Given the description of an element on the screen output the (x, y) to click on. 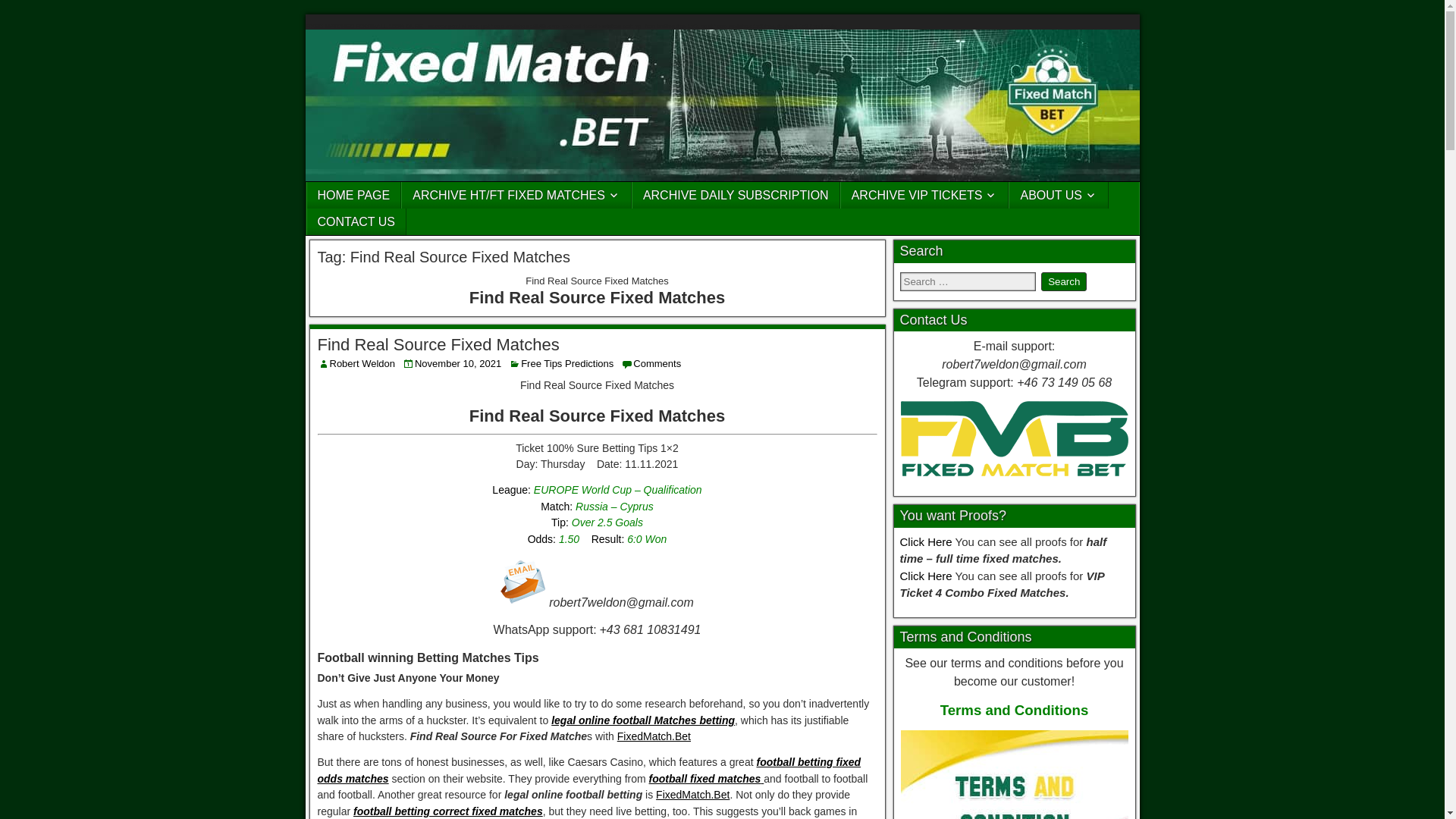
football betting fixed odds matches (588, 769)
football fixed matches (706, 778)
Terms and Conditions (1014, 709)
Click Here (925, 541)
Search (1063, 281)
Search (1063, 281)
Winning 1x2 Tips Predictions (523, 581)
Comments (657, 363)
CONTACT US (355, 221)
football betting correct fixed matches (448, 811)
Robert Weldon (361, 363)
legal online football Matches betting (643, 720)
FixedMatch.Bet (653, 736)
ABOUT US (1058, 194)
Find Real Source Fixed Matches (438, 343)
